Given the description of an element on the screen output the (x, y) to click on. 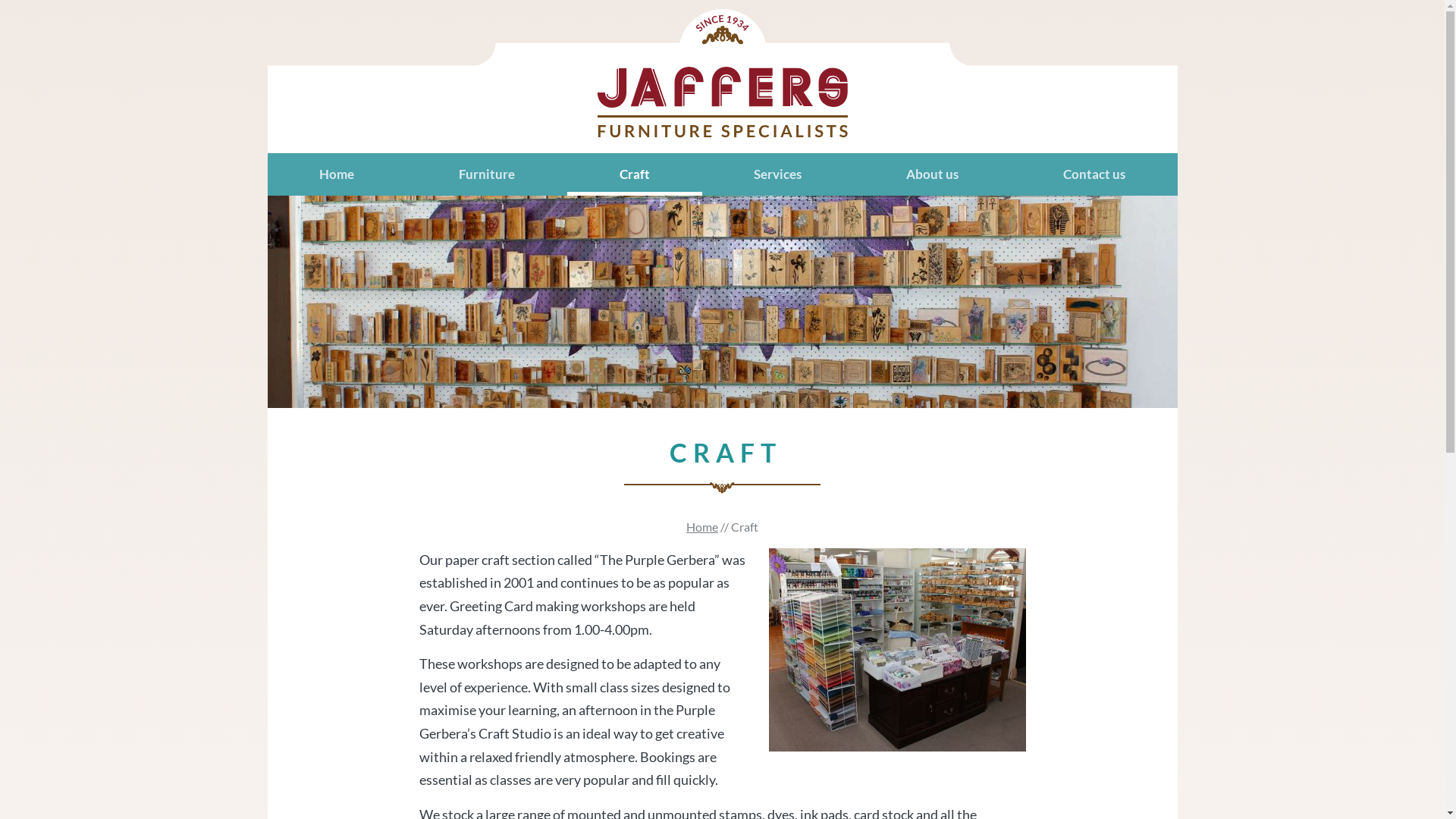
Services Element type: text (778, 174)
Home Element type: text (336, 174)
About us Element type: text (931, 174)
Home Element type: text (702, 526)
Skip to Content Element type: text (6, 6)
Craft Element type: text (634, 174)
Contact us Element type: text (1093, 174)
Furniture Element type: text (486, 174)
